Given the description of an element on the screen output the (x, y) to click on. 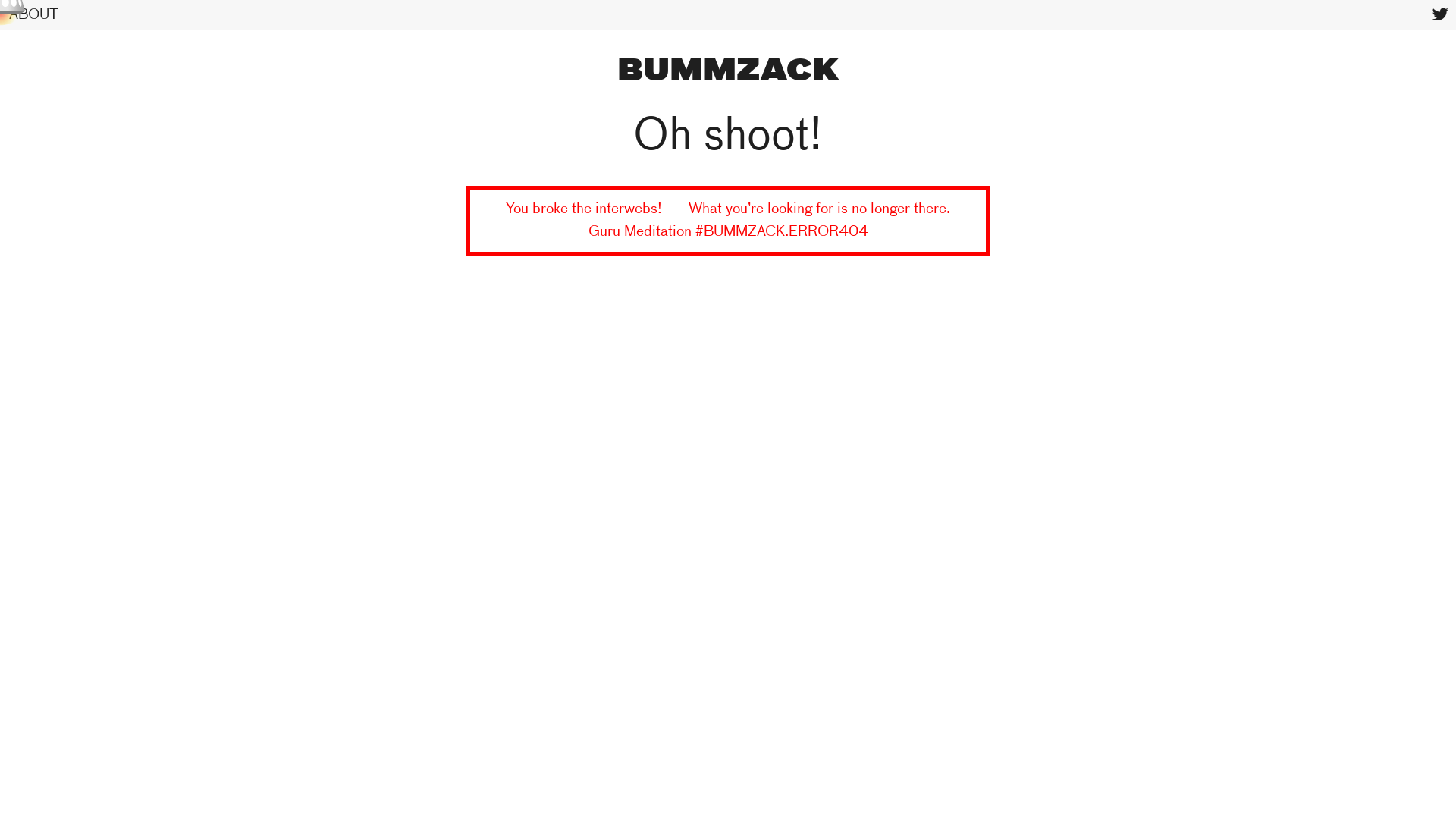
BUMMZACK Element type: text (728, 71)
ABOUT Element type: text (33, 14)
